Given the description of an element on the screen output the (x, y) to click on. 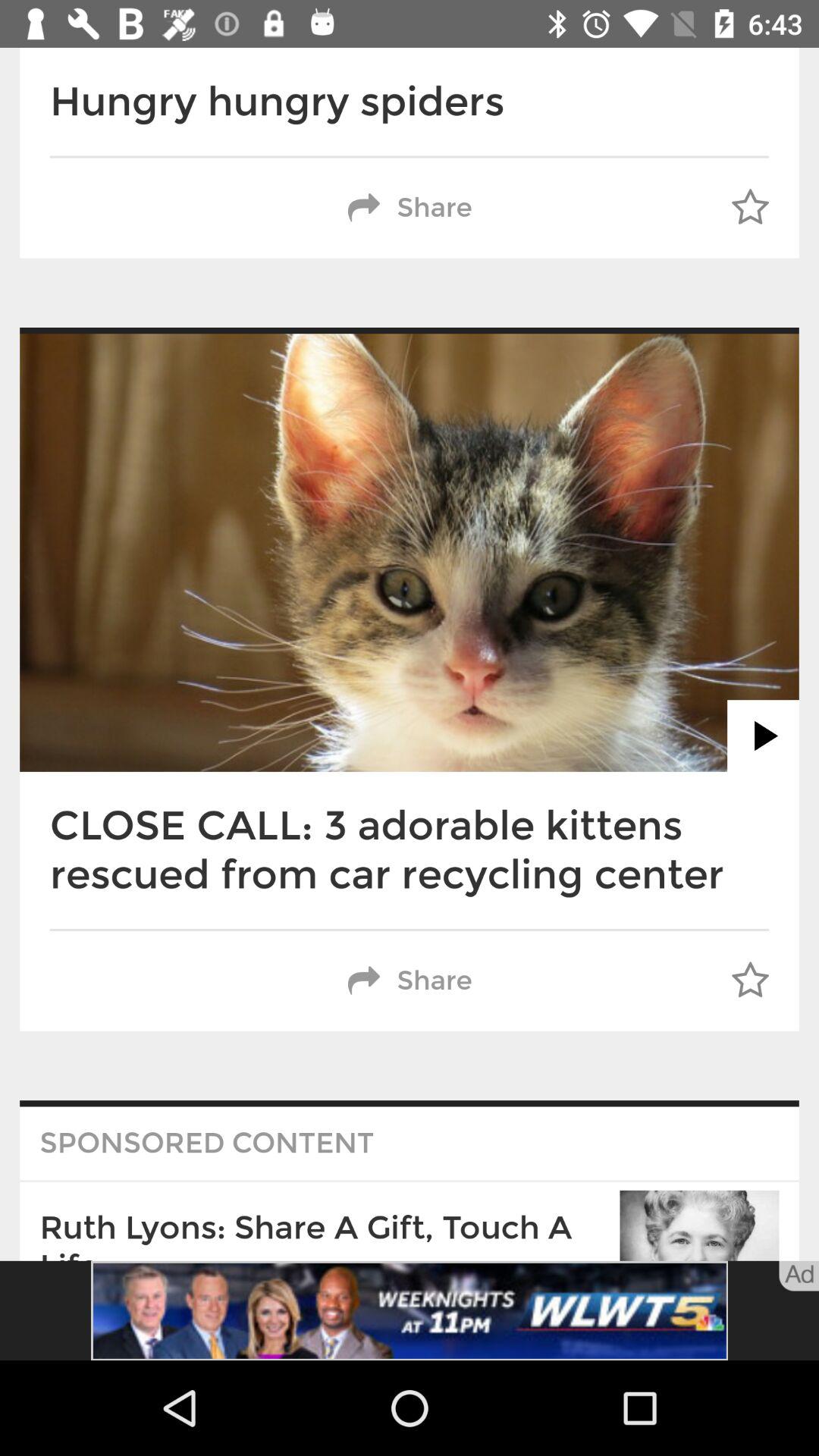
go to play option (763, 735)
